Given the description of an element on the screen output the (x, y) to click on. 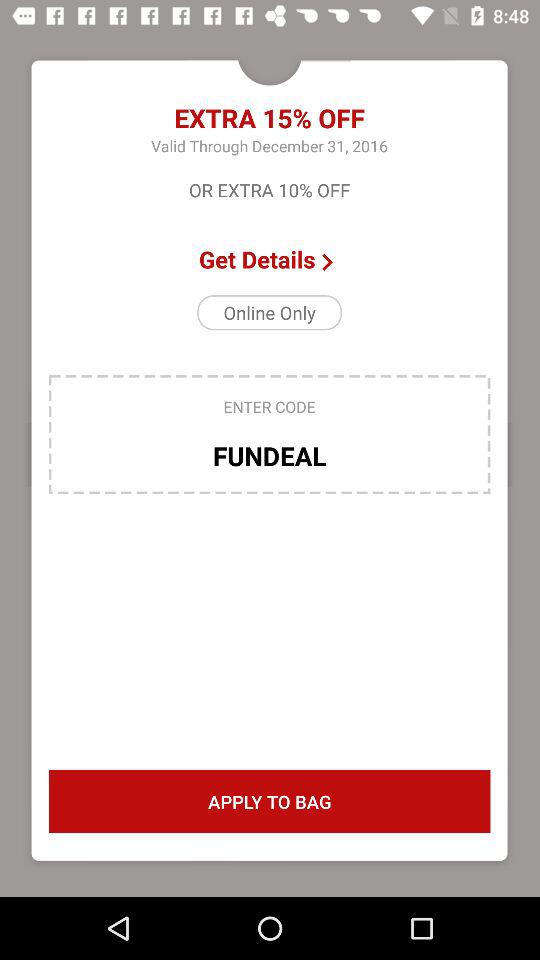
flip to the apply to bag icon (269, 801)
